Given the description of an element on the screen output the (x, y) to click on. 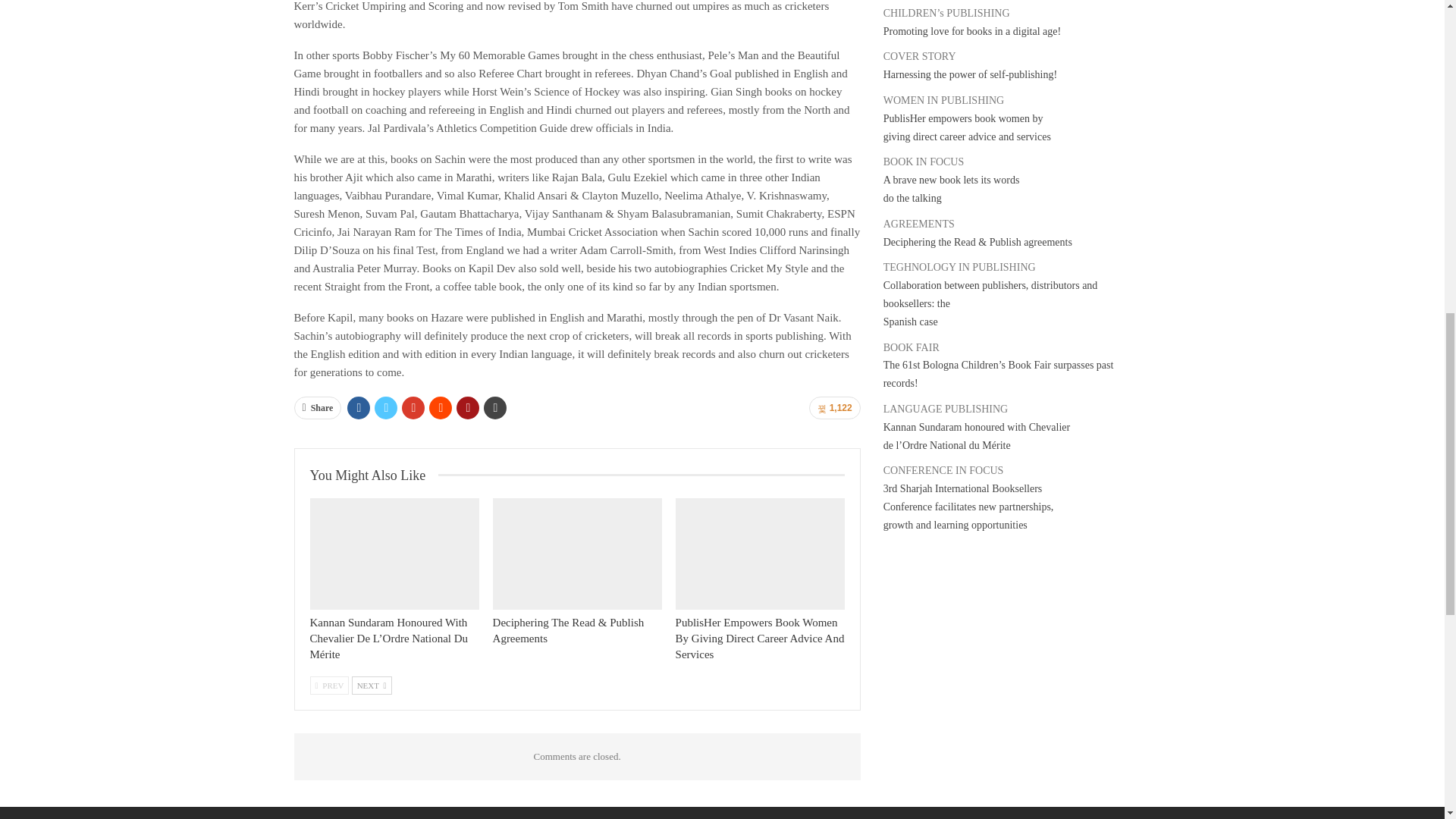
You Might Also Like (373, 475)
Previous (328, 685)
Next (371, 685)
